Given the description of an element on the screen output the (x, y) to click on. 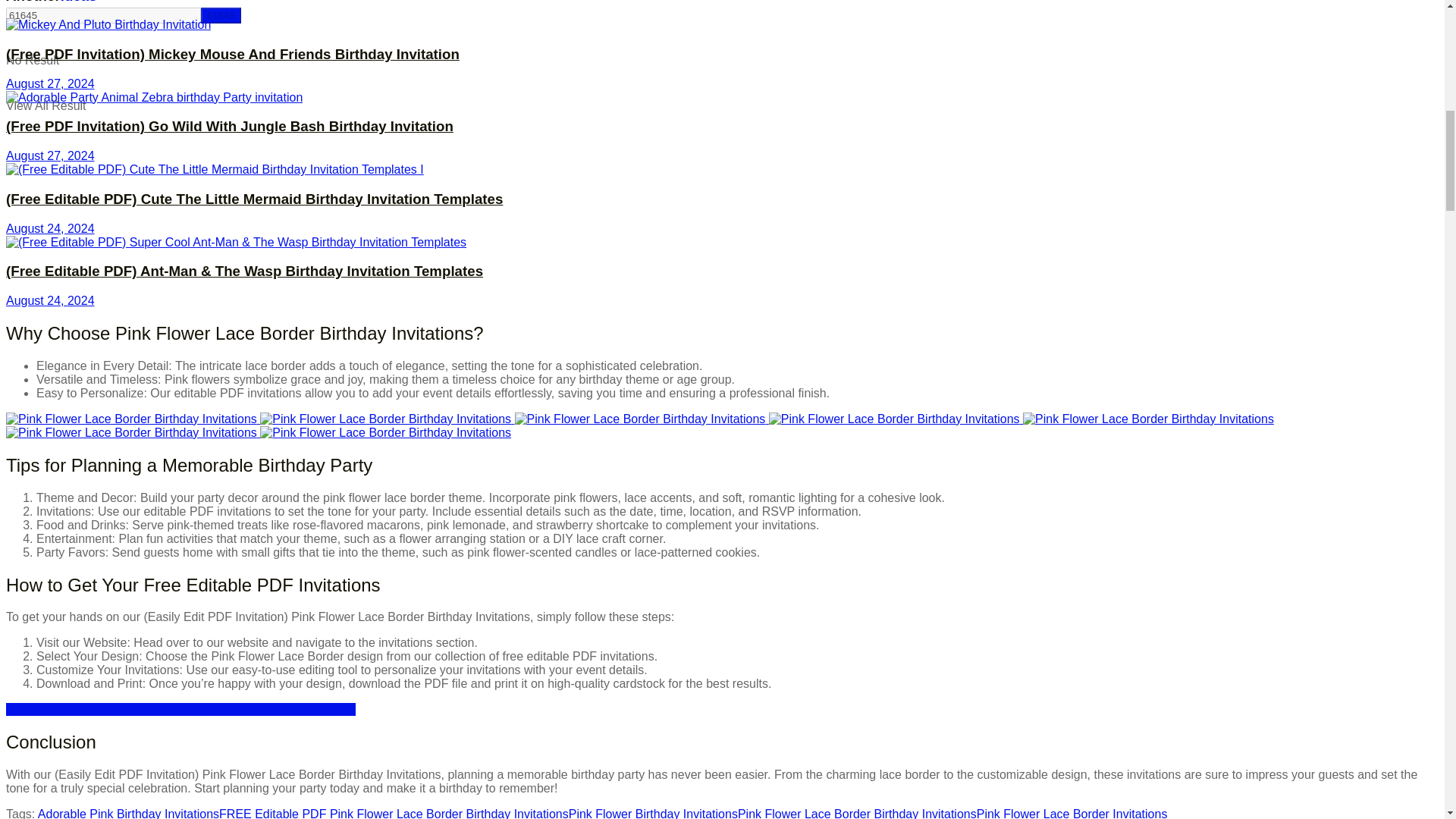
61645 (102, 15)
61645 (220, 15)
61645 (102, 15)
61645 (220, 15)
61645 (220, 15)
